Given the description of an element on the screen output the (x, y) to click on. 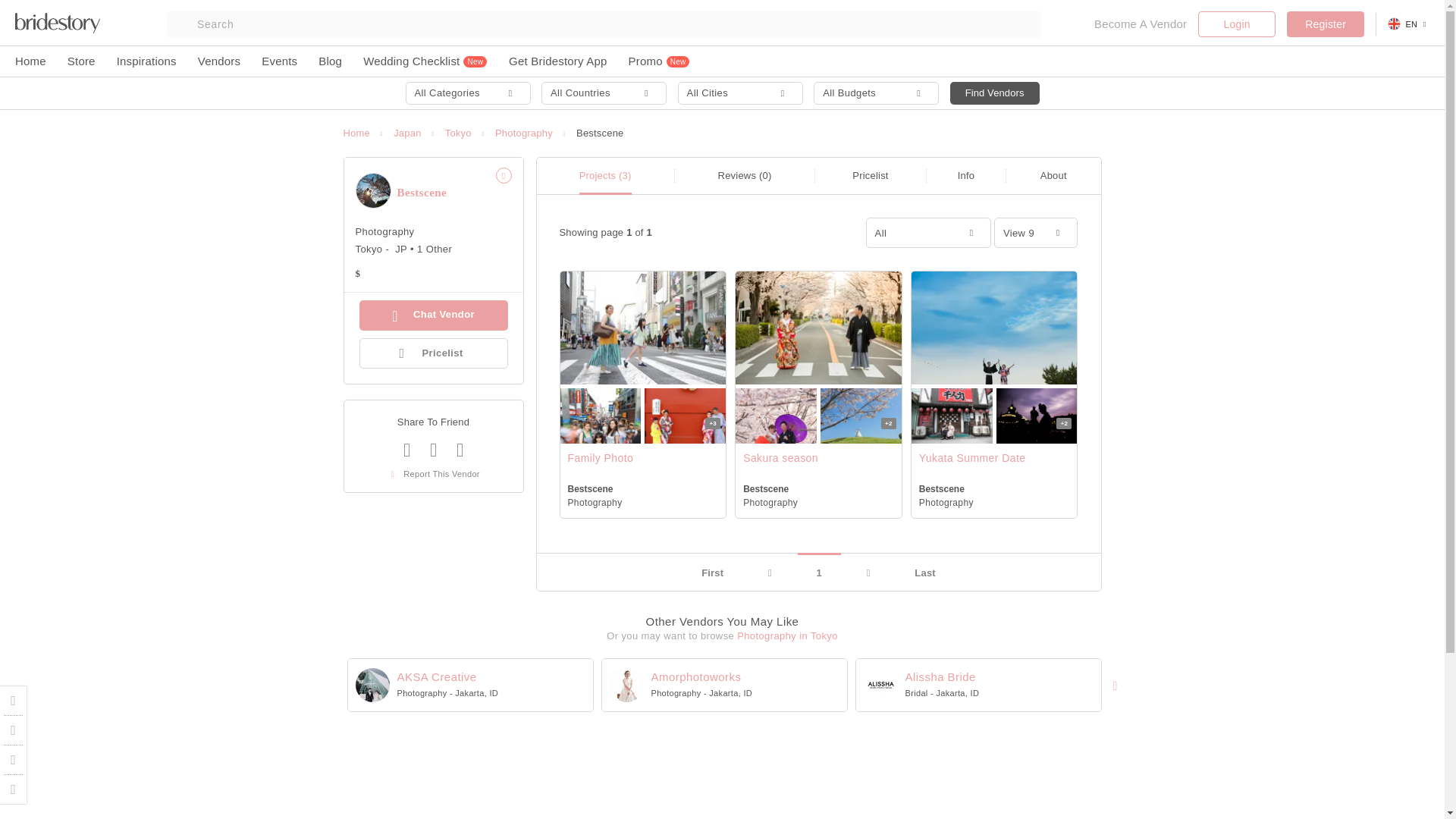
Events (279, 60)
Find Vendors (994, 92)
 Report This Vendor (433, 473)
Bestscene (600, 132)
Help Center (13, 730)
Japan (406, 132)
Store (81, 60)
EN (1408, 24)
Pricelist (869, 174)
About (1054, 174)
